Given the description of an element on the screen output the (x, y) to click on. 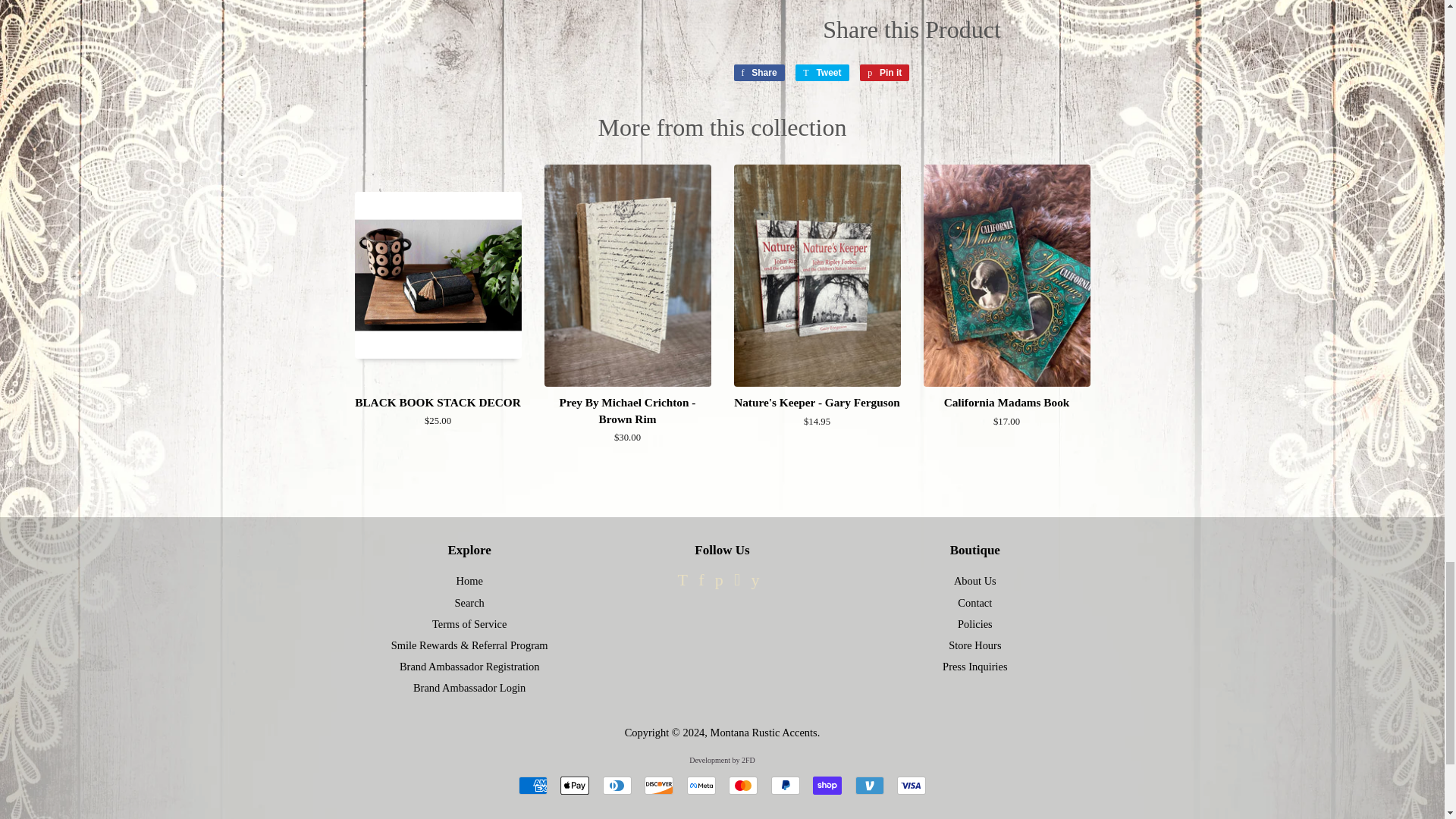
Discover (658, 785)
Venmo (869, 785)
Share on Facebook (758, 72)
Shop Pay (826, 785)
Pin on Pinterest (884, 72)
Tweet on Twitter (821, 72)
Visa (911, 785)
Diners Club (616, 785)
Mastercard (743, 785)
Apple Pay (574, 785)
American Express (532, 785)
PayPal (785, 785)
Meta Pay (701, 785)
